Given the description of an element on the screen output the (x, y) to click on. 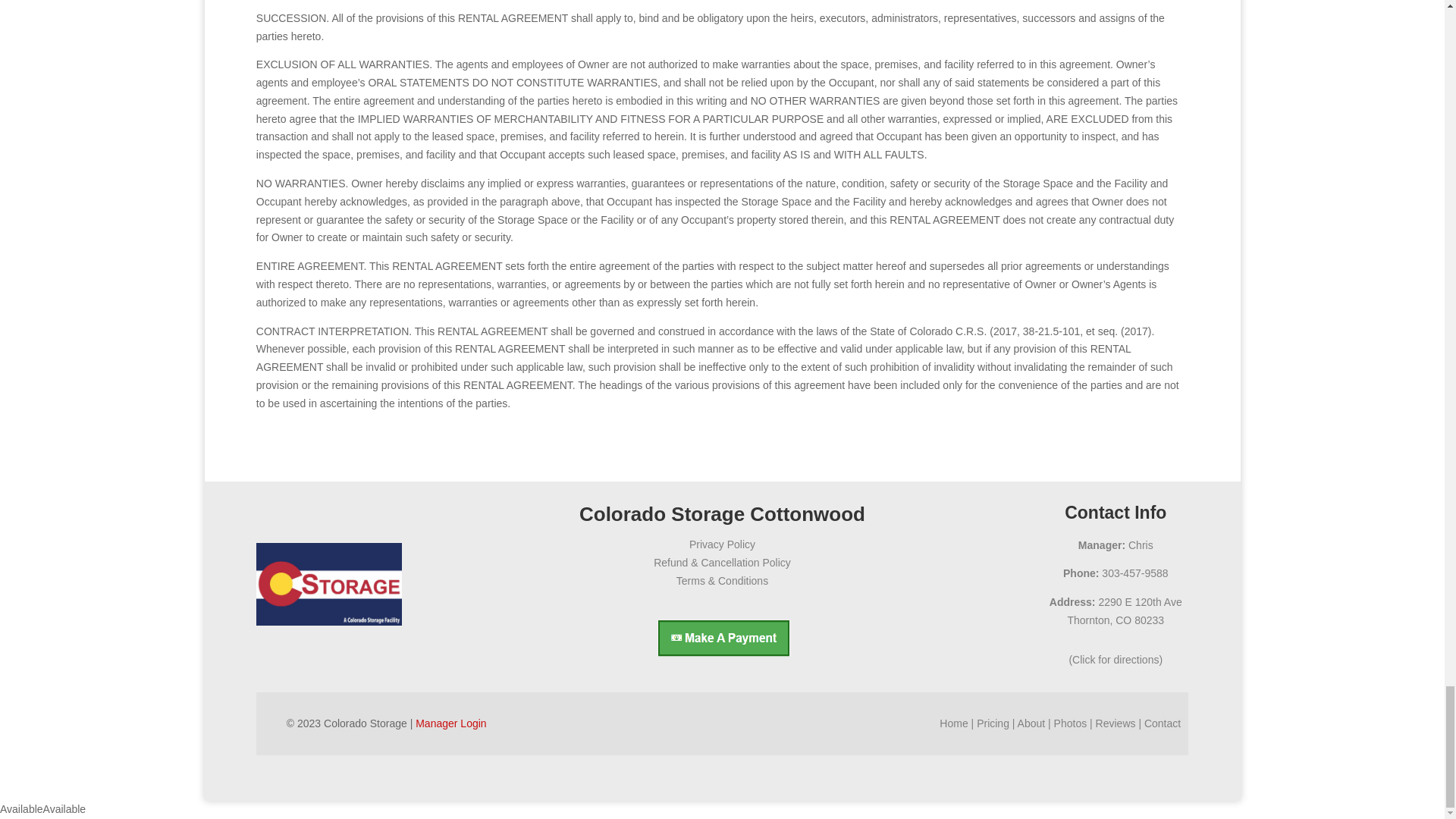
Privacy Policy (1115, 611)
Contact (721, 544)
Manager Login (1162, 723)
Phone: 303-457-9588 (450, 723)
